Given the description of an element on the screen output the (x, y) to click on. 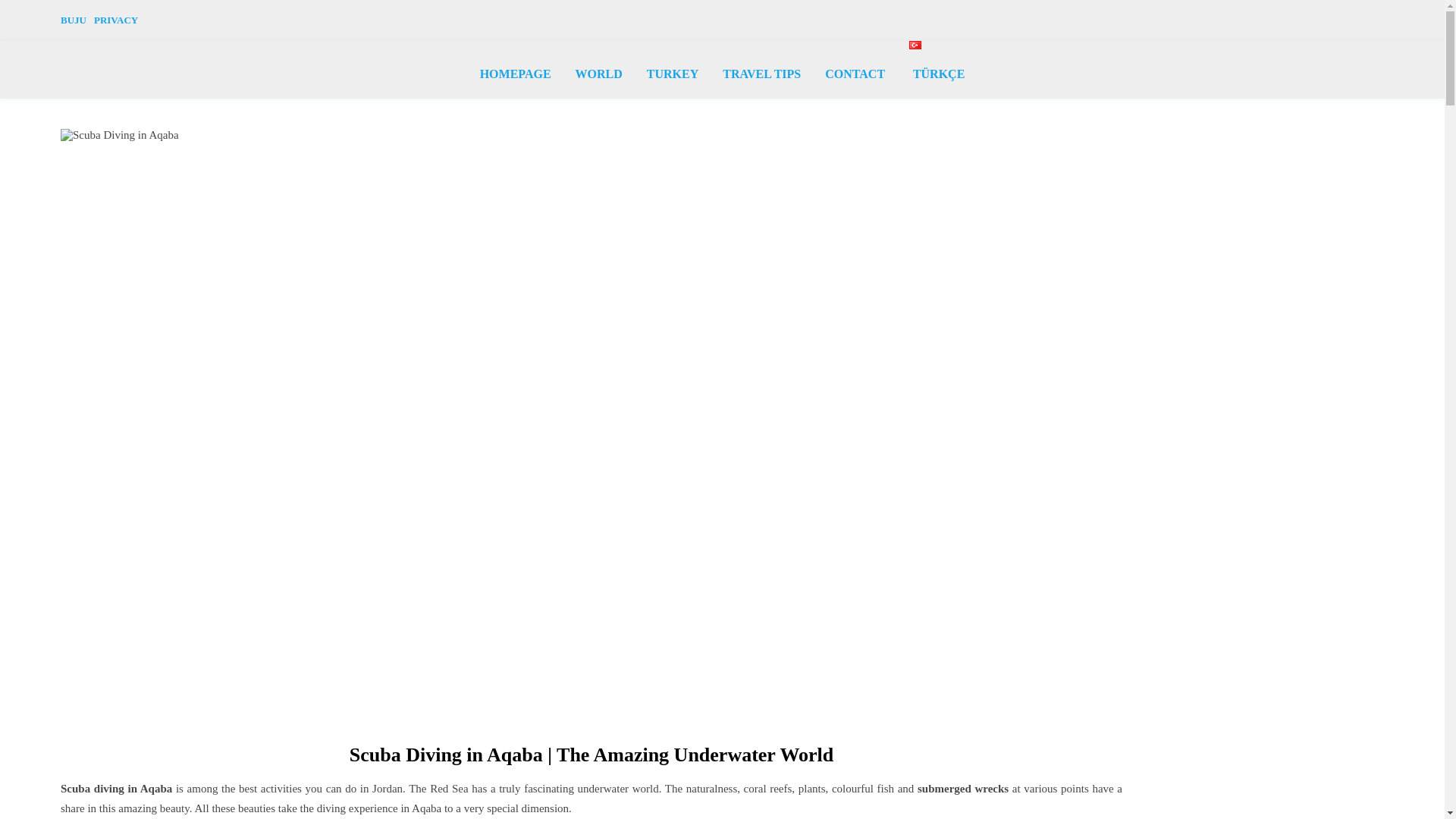
HOMEPAGE (521, 73)
PRIVACY (114, 20)
TURKEY (672, 73)
TRAVEL TIPS (761, 73)
WORLD (598, 73)
CONTACT (854, 73)
